Given the description of an element on the screen output the (x, y) to click on. 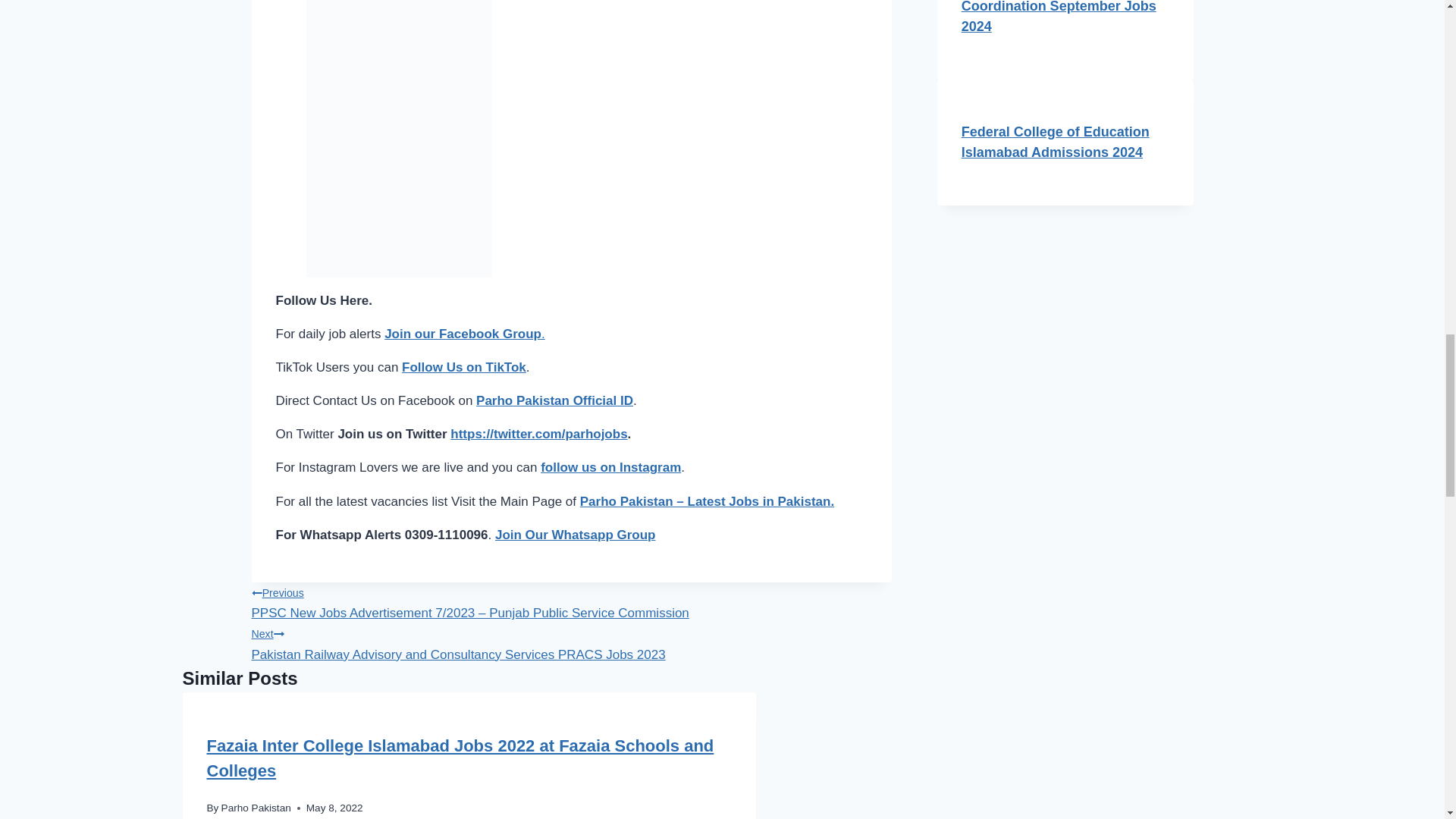
Parho Pakistan (256, 808)
Follow Us on TikTok (463, 367)
Parho Pakistan Official ID (554, 400)
Join Our Whatsapp Group (575, 534)
follow us on Instagram (610, 467)
Join our Facebook Group. (464, 333)
